Given the description of an element on the screen output the (x, y) to click on. 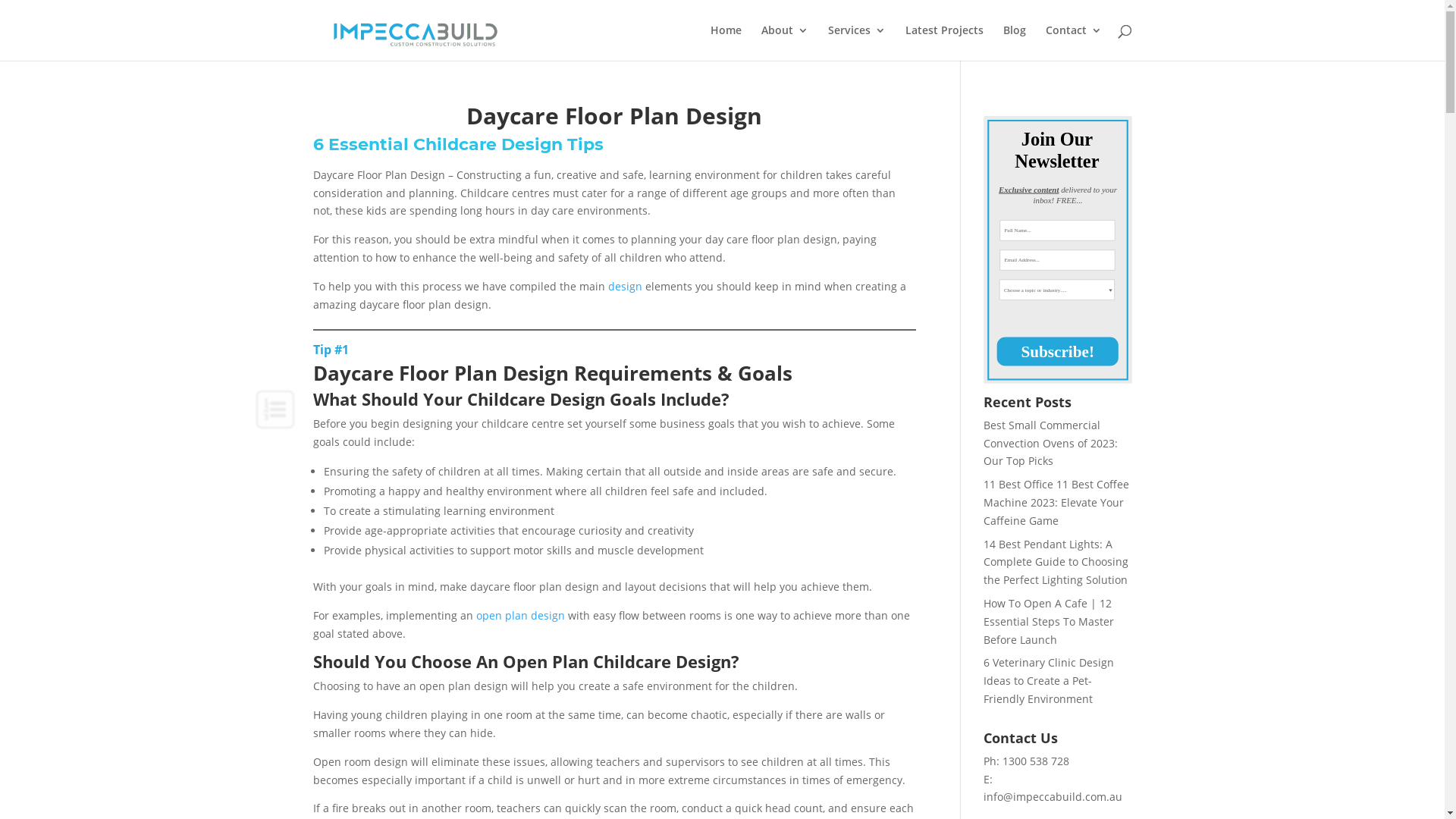
click To Maximize The Table Of Contents Element type: hover (275, 409)
info@impeccabuild.com.au Element type: text (1052, 796)
1300 538 728  Element type: text (1037, 760)
Home Element type: text (724, 42)
Contact Element type: text (1072, 42)
About Element type: text (784, 42)
open plan design Element type: text (520, 615)
design Element type: text (625, 286)
Blog Element type: text (1013, 42)
Subscribe! Element type: text (1108, 363)
Latest Projects Element type: text (944, 42)
Services Element type: text (856, 42)
